Given the description of an element on the screen output the (x, y) to click on. 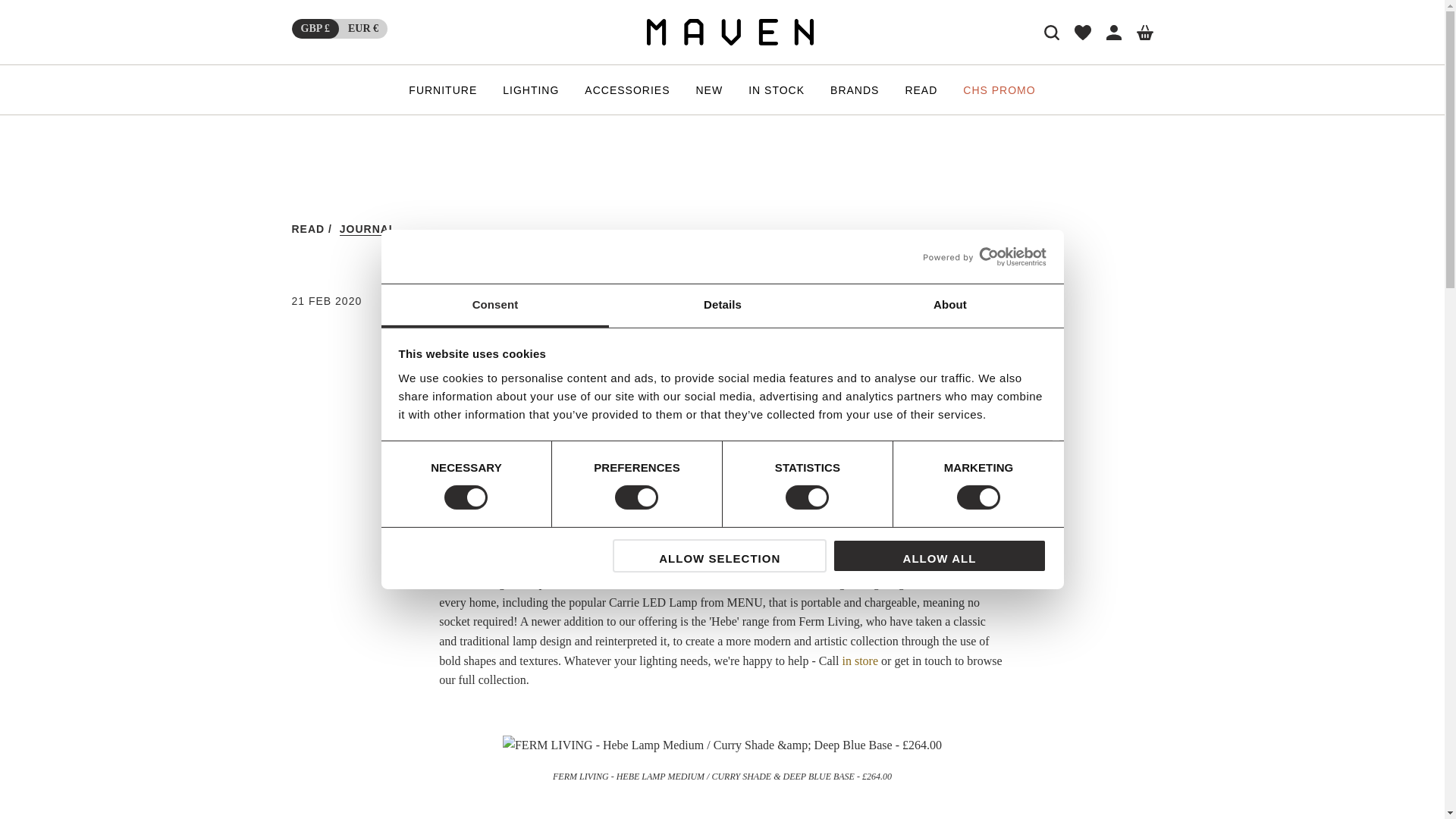
Consent (494, 305)
About (948, 305)
Details (721, 305)
